Given the description of an element on the screen output the (x, y) to click on. 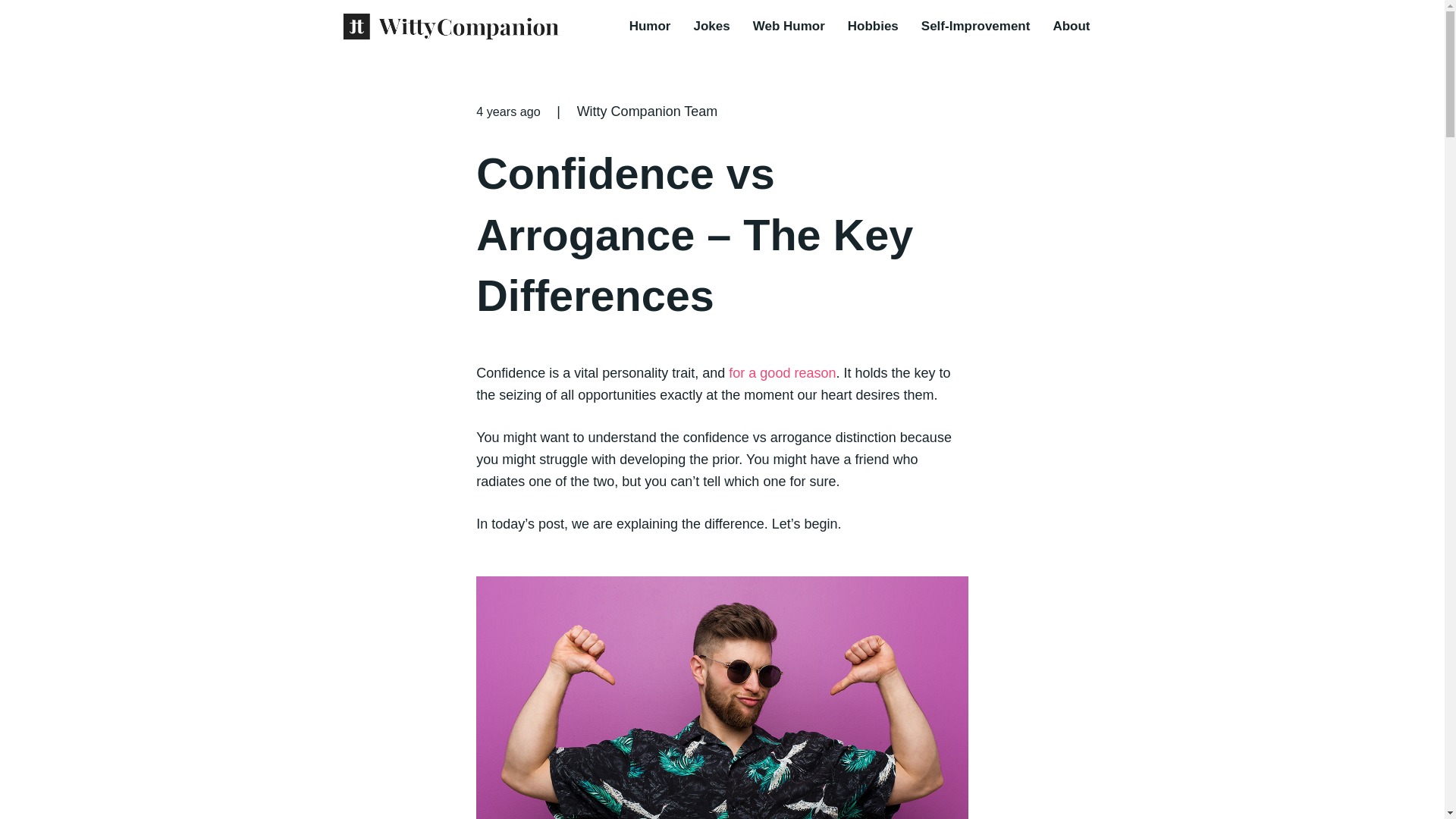
Hobbies (872, 26)
Web Humor (788, 26)
Humor (649, 26)
About (1070, 26)
for a good reason (782, 372)
Jokes (711, 26)
Self-Improvement (976, 26)
